Given the description of an element on the screen output the (x, y) to click on. 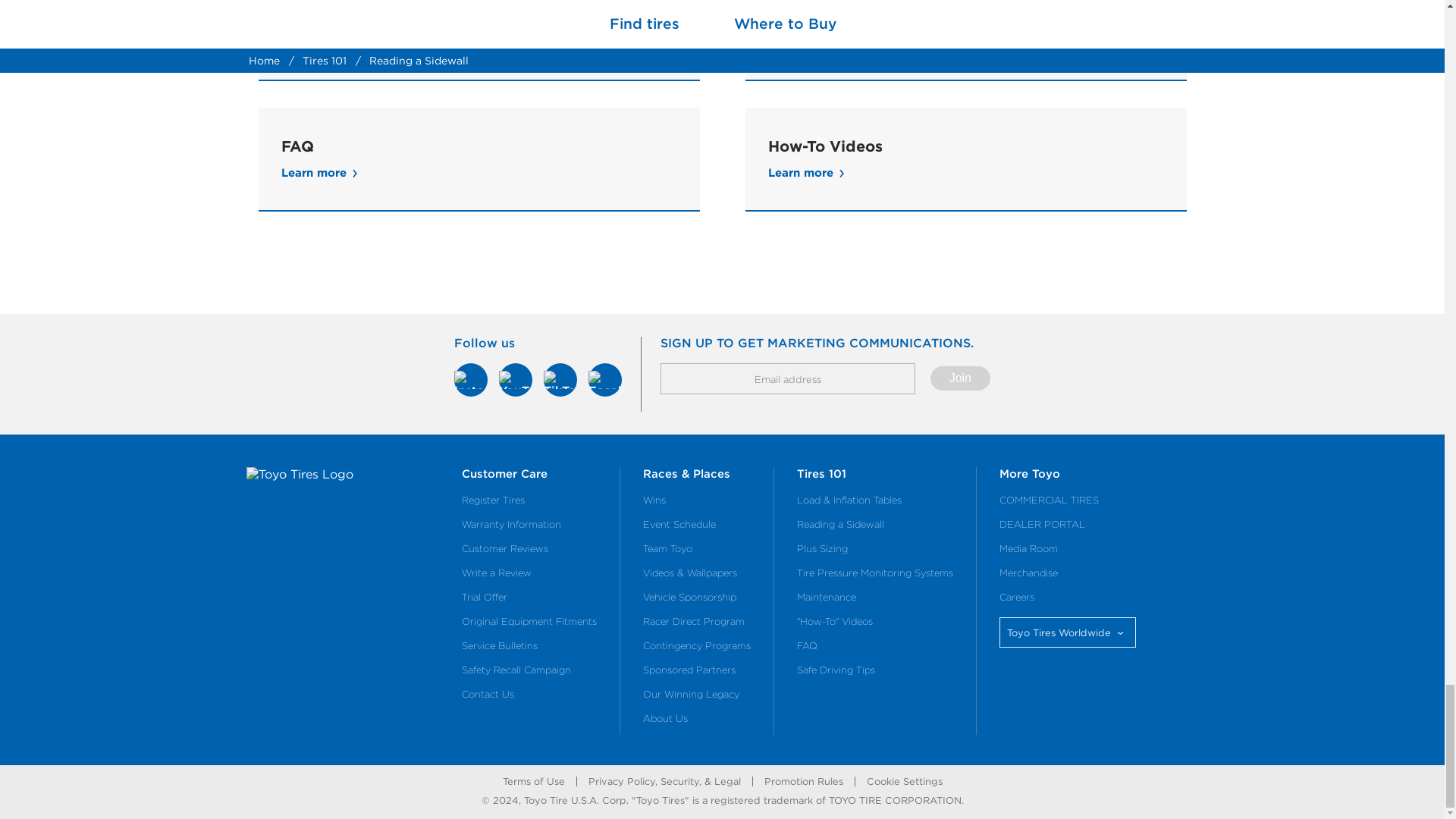
email (788, 378)
tiktok (559, 379)
youtube (515, 379)
instagram (470, 379)
facebook (604, 379)
